Given the description of an element on the screen output the (x, y) to click on. 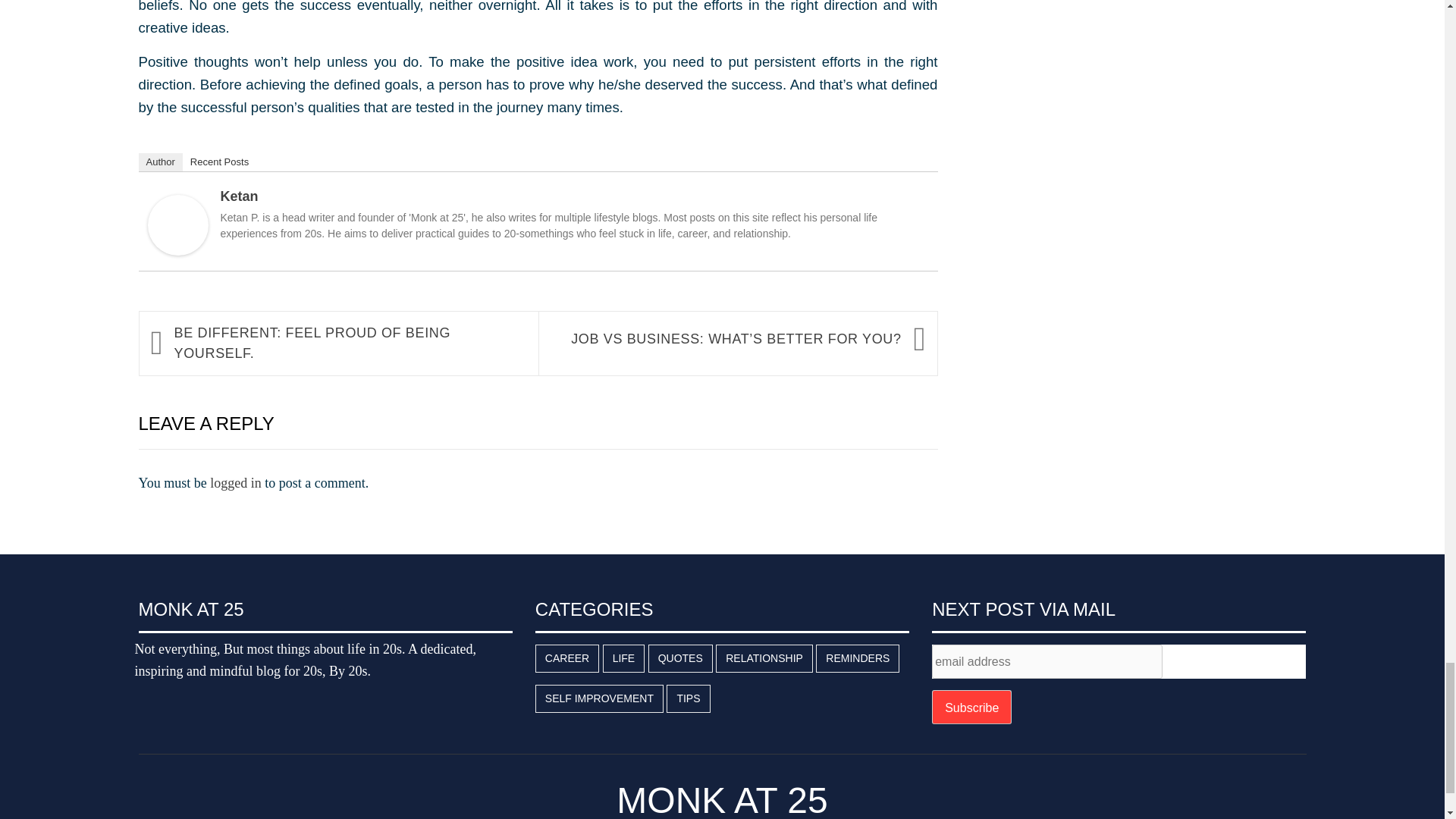
Ketan (177, 223)
Recent Posts (219, 162)
BE DIFFERENT: FEEL PROUD OF BEING YOURSELF. (348, 342)
Ketan (238, 195)
Subscribe (971, 706)
Author (160, 162)
